Given the description of an element on the screen output the (x, y) to click on. 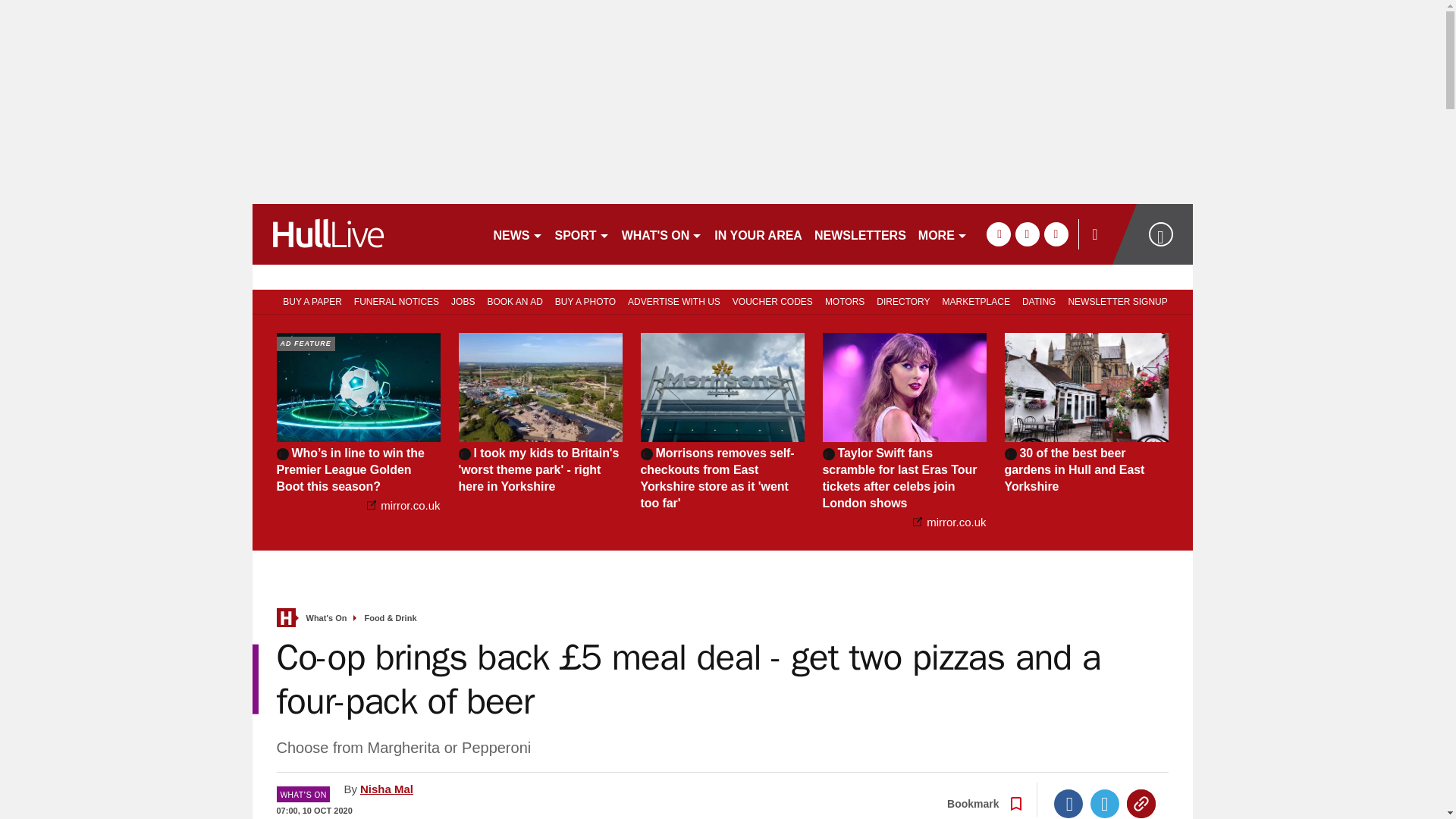
SPORT (581, 233)
IN YOUR AREA (757, 233)
WHAT'S ON (662, 233)
Twitter (1104, 803)
NEWSLETTERS (860, 233)
twitter (1026, 233)
MORE (943, 233)
instagram (1055, 233)
facebook (997, 233)
Facebook (1068, 803)
